Given the description of an element on the screen output the (x, y) to click on. 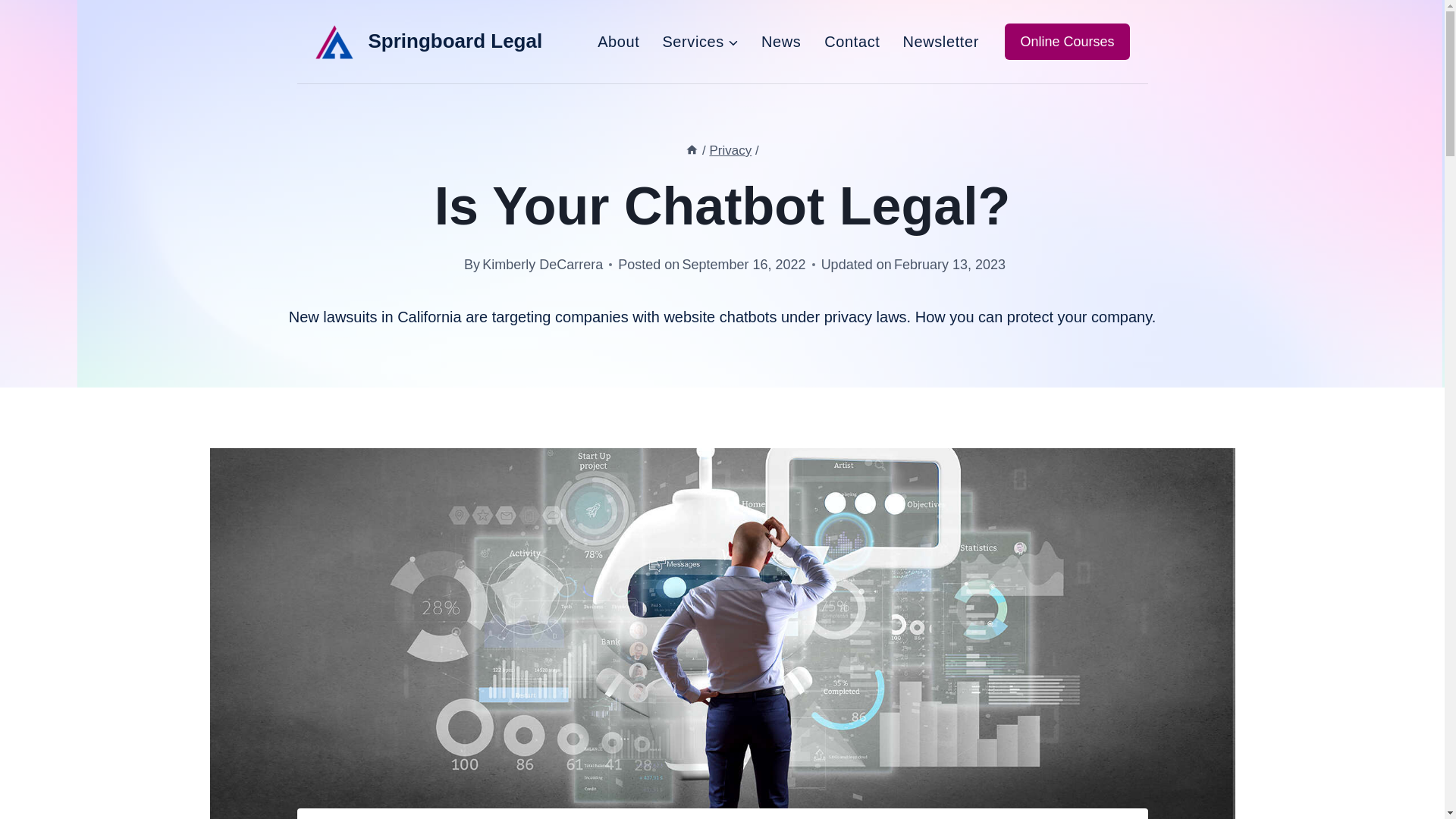
Services (700, 41)
Springboard Legal (429, 41)
Home (691, 150)
Online Courses (1066, 41)
Kimberly DeCarrera (541, 264)
About (618, 41)
Newsletter (940, 41)
News (780, 41)
Privacy (731, 150)
Contact (851, 41)
